Given the description of an element on the screen output the (x, y) to click on. 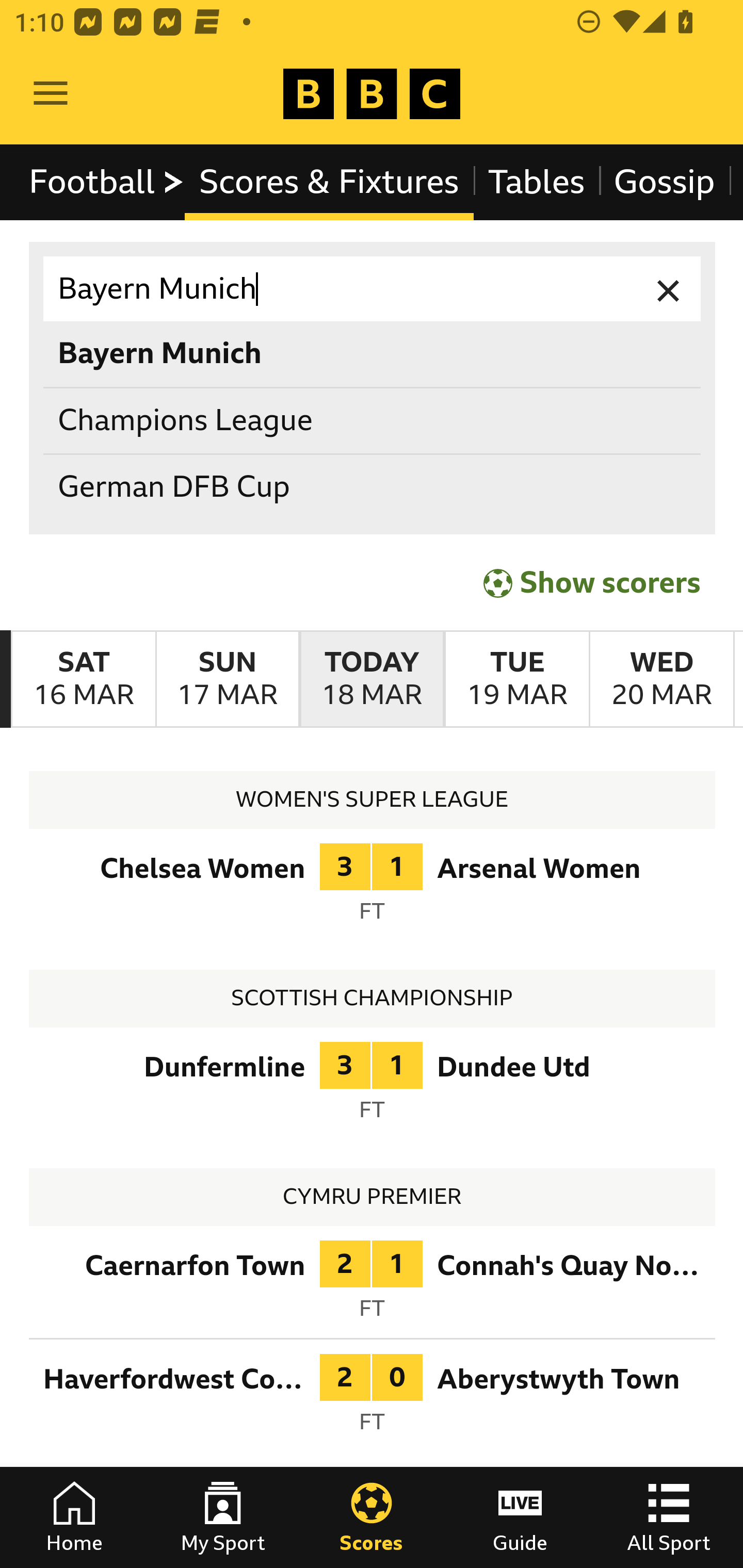
Open Menu (50, 93)
Football  (106, 181)
Scores & Fixtures (329, 181)
Tables (536, 181)
Gossip (664, 181)
Bayern Munich (372, 289)
Clear input (669, 289)
Champions League (372, 419)
German DFB Cup (372, 488)
Show scorers (591, 582)
SaturdayMarch 16th Saturday March 16th (83, 678)
SundayMarch 17th Sunday March 17th (227, 678)
TodayMarch 18th Today March 18th (371, 678)
TuesdayMarch 19th Tuesday March 19th (516, 678)
WednesdayMarch 20th Wednesday March 20th (661, 678)
68508406 Chelsea Women 3 Arsenal Women 1 Full Time (372, 888)
68474818 Dunfermline 3 Dundee United 1 Full Time (372, 1086)
Home (74, 1517)
My Sport (222, 1517)
Guide (519, 1517)
All Sport (668, 1517)
